Given the description of an element on the screen output the (x, y) to click on. 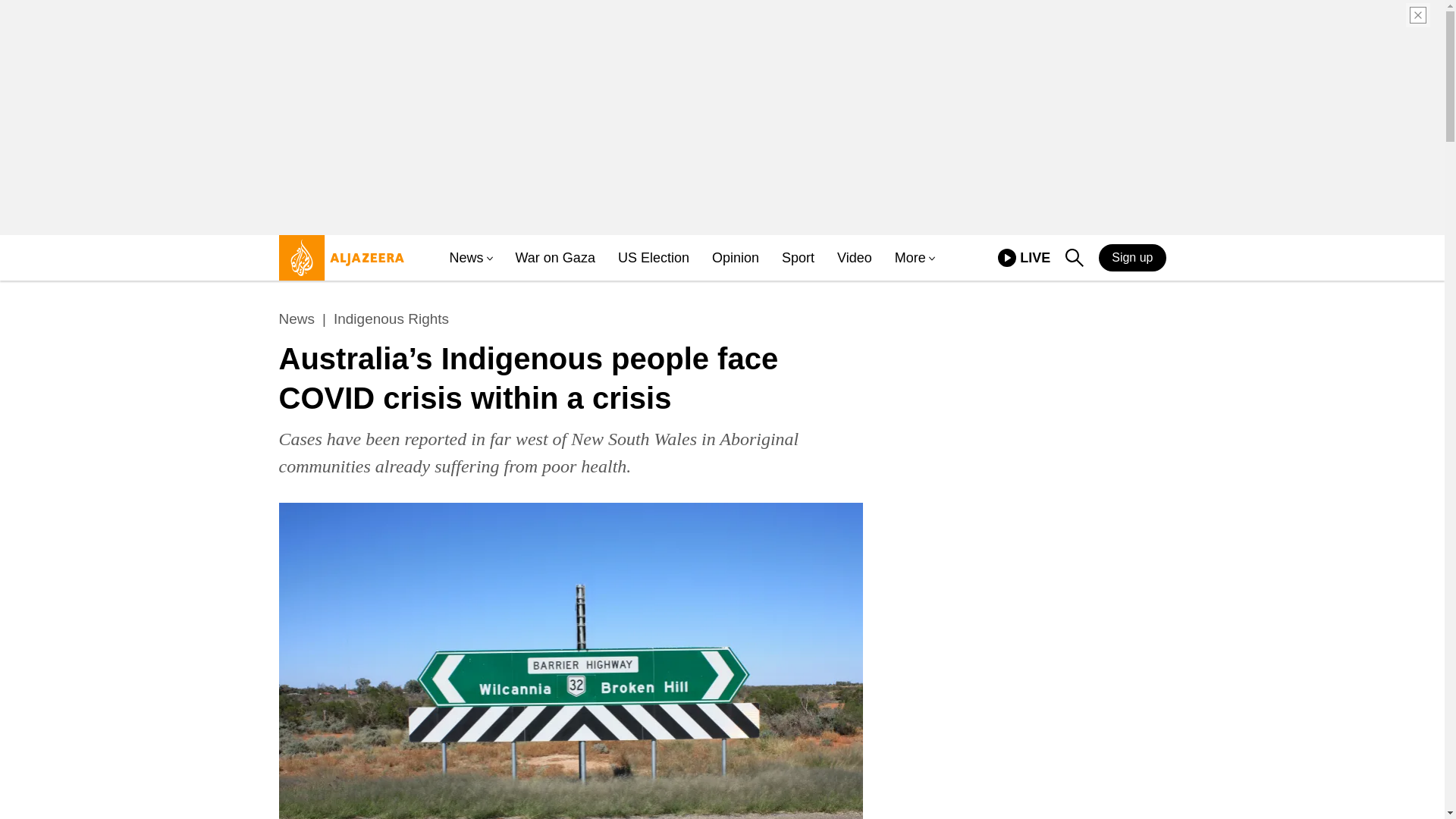
Sport (797, 257)
News (1074, 259)
play (465, 257)
Skip to Content (1006, 257)
More (337, 264)
Opinion (910, 257)
Indigenous Rights (734, 257)
search (390, 319)
US Election (1074, 257)
War on Gaza (652, 257)
Show more sections (555, 257)
Video (930, 257)
Show more news sections (854, 257)
